Given the description of an element on the screen output the (x, y) to click on. 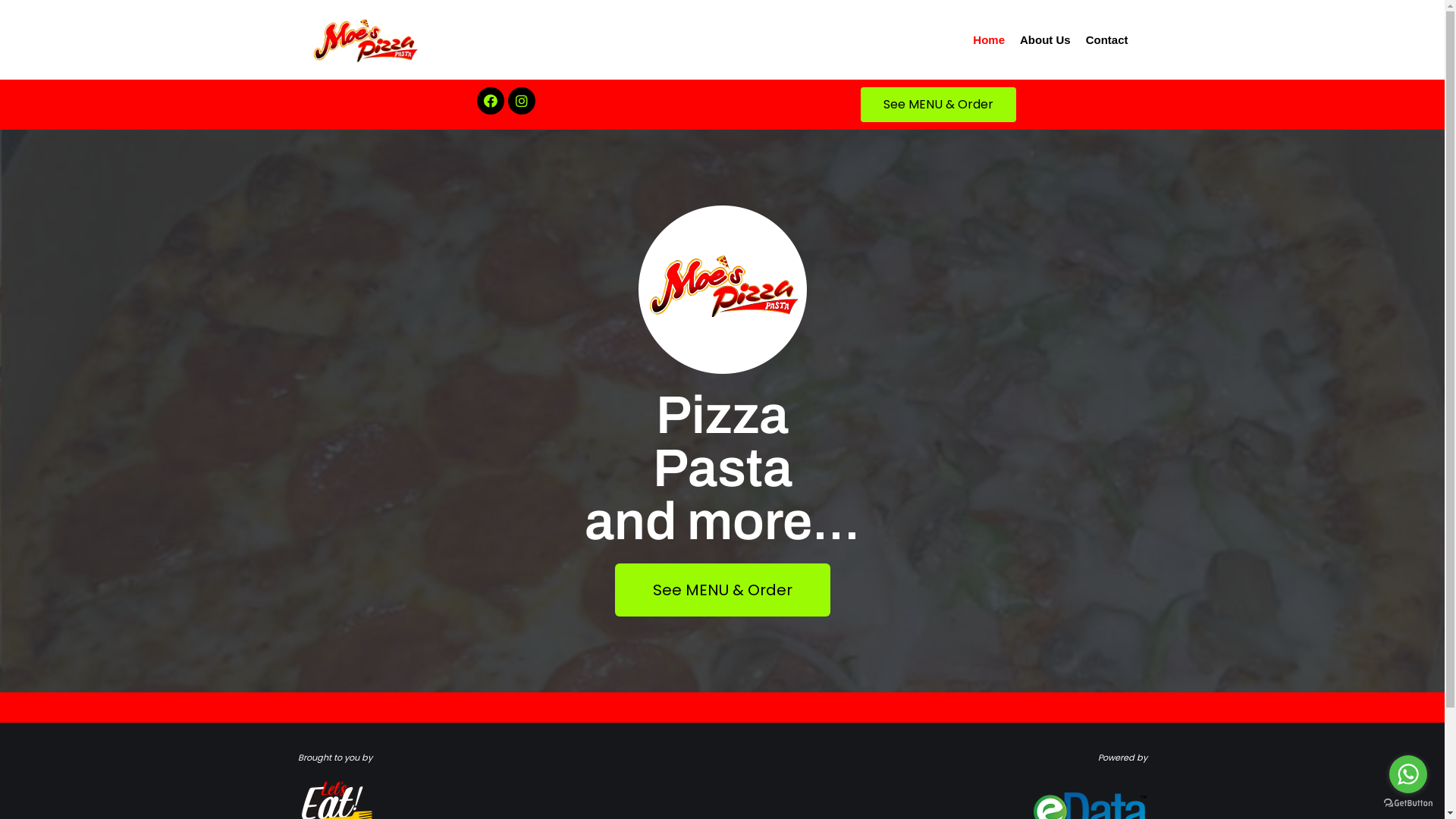
About Us Element type: text (1044, 40)
Skip to content Element type: text (15, 31)
Contact Element type: text (1106, 40)
Home Element type: text (988, 40)
Search Element type: text (1137, 409)
Moe's Pizza Grill Element type: hover (365, 40)
